Given the description of an element on the screen output the (x, y) to click on. 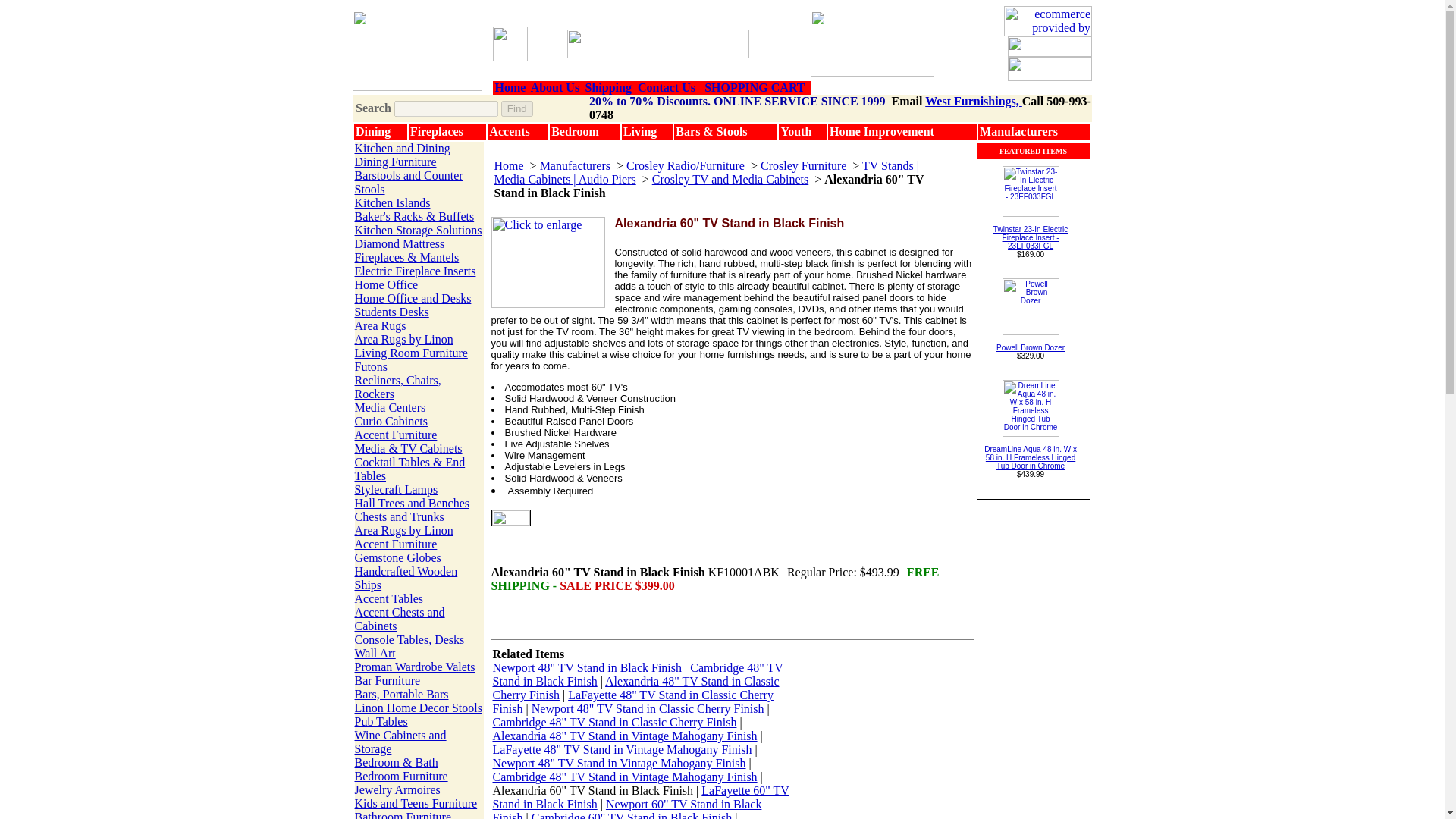
Living Room Furniture (411, 352)
Futons (371, 366)
West Furnishings, (973, 101)
Diamond Mattress (400, 243)
Living (639, 131)
Home Office (387, 284)
Shipping (608, 87)
Home Improvement (881, 131)
Youth (795, 131)
Home (510, 87)
Home Office and Desks (413, 297)
Kitchen Islands (392, 202)
Kitchen and Dining (402, 147)
Barstools and Counter Stools (409, 181)
Area Rugs by Linon (403, 338)
